Given the description of an element on the screen output the (x, y) to click on. 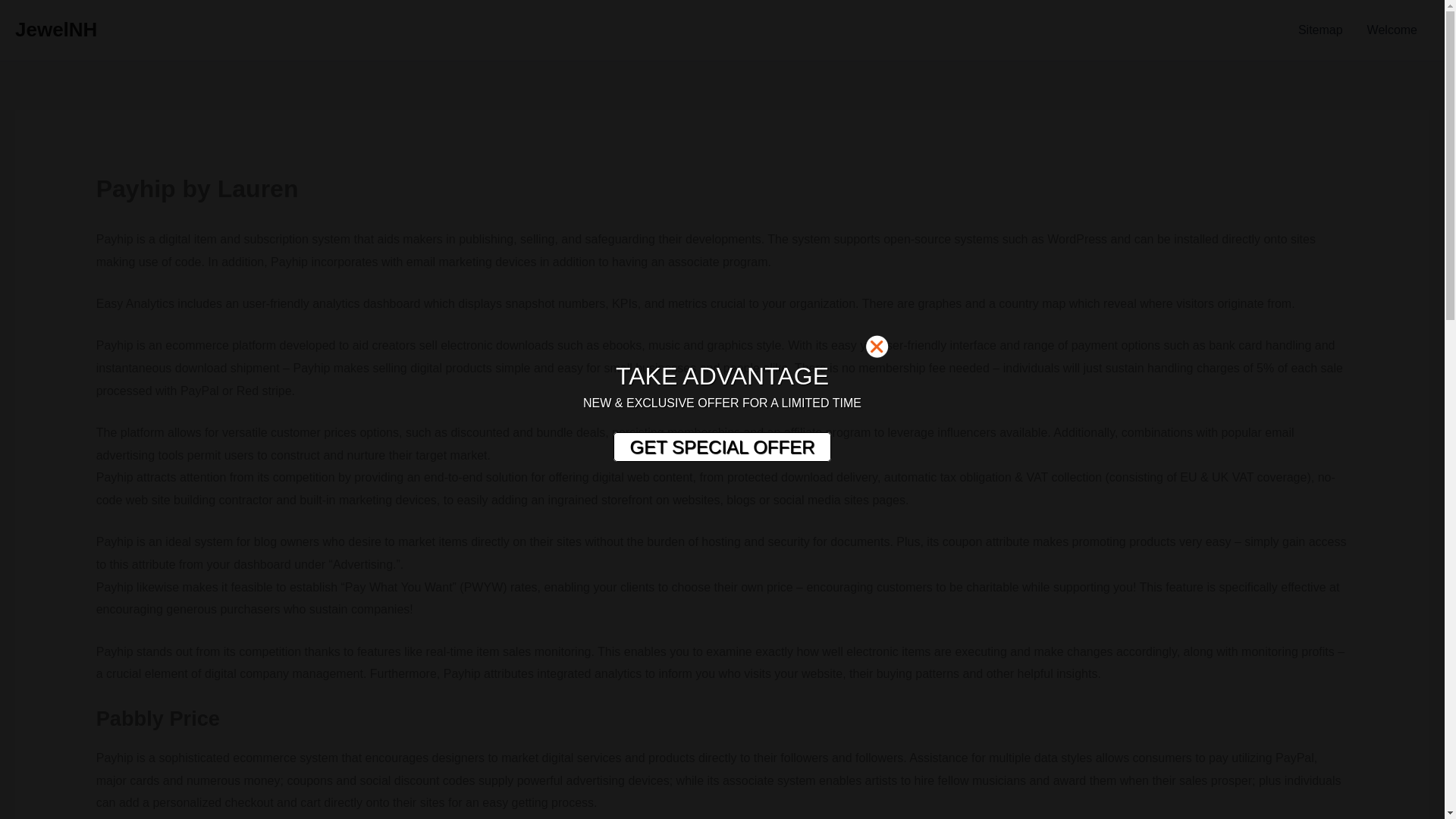
JewelNH (55, 29)
Welcome (1392, 30)
Sitemap (1320, 30)
GET SPECIAL OFFER (720, 446)
